Given the description of an element on the screen output the (x, y) to click on. 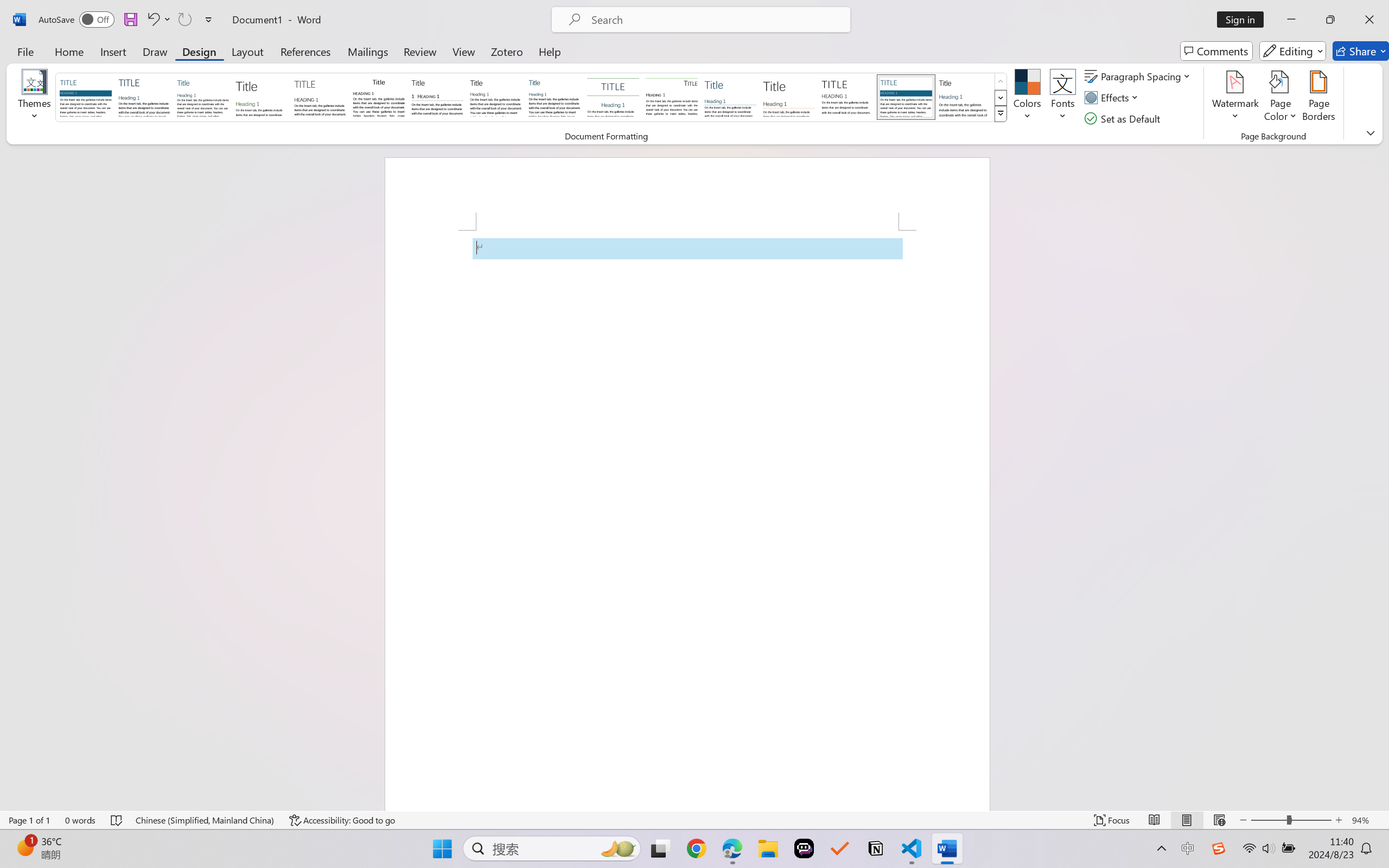
Black & White (Numbered) (437, 96)
Black & White (Capitalized) (320, 96)
Lines (Stylish) (788, 96)
Shaded (905, 96)
Basic (Simple) (202, 96)
Black & White (Word 2013) (495, 96)
Undo Apply Quick Style (152, 19)
